Given the description of an element on the screen output the (x, y) to click on. 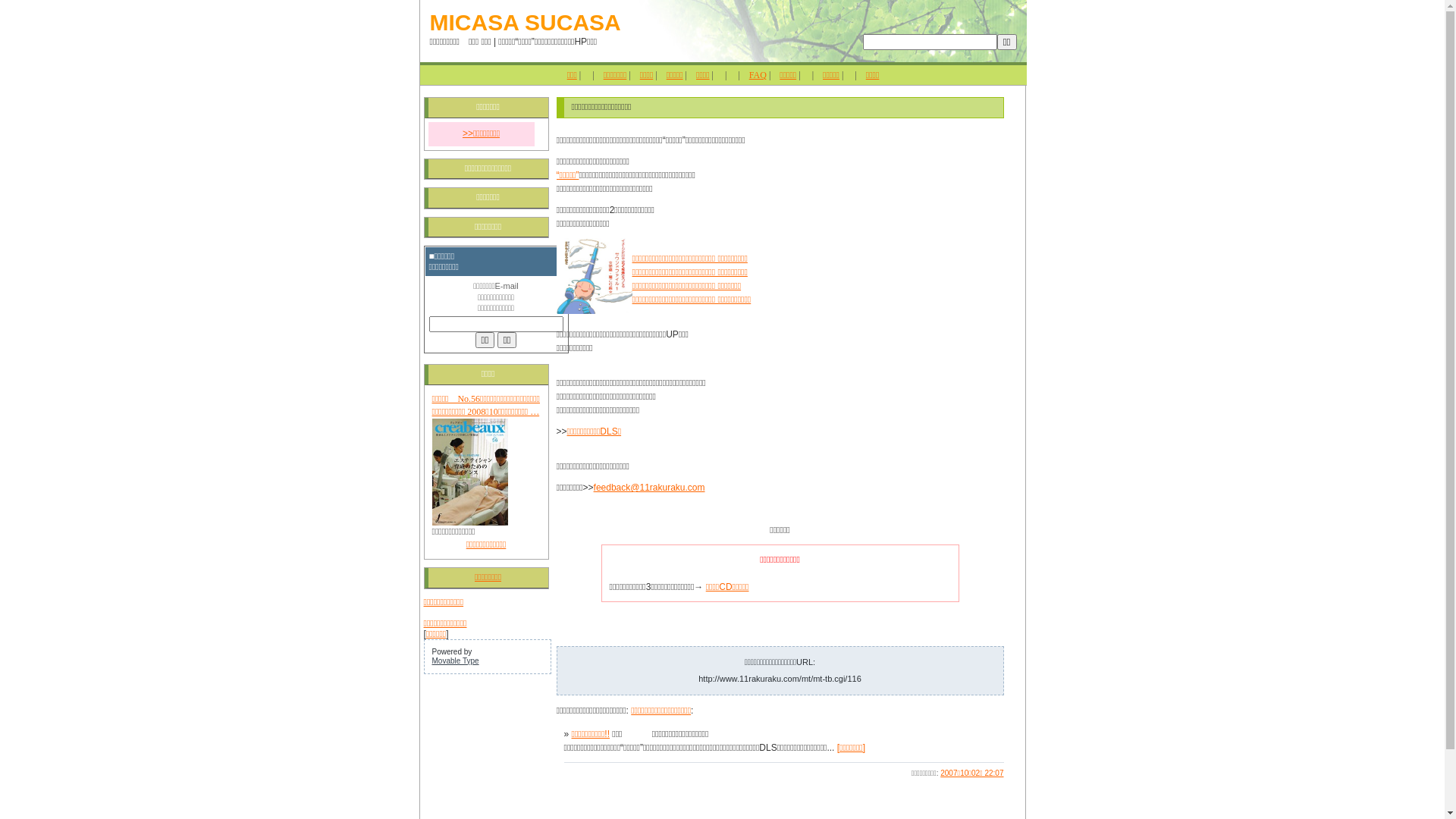
FAQ Element type: text (757, 74)
MICASA SUCASA Element type: text (524, 21)
Movable Type Element type: text (455, 660)
feedback@11rakuraku.com Element type: text (649, 487)
